Given the description of an element on the screen output the (x, y) to click on. 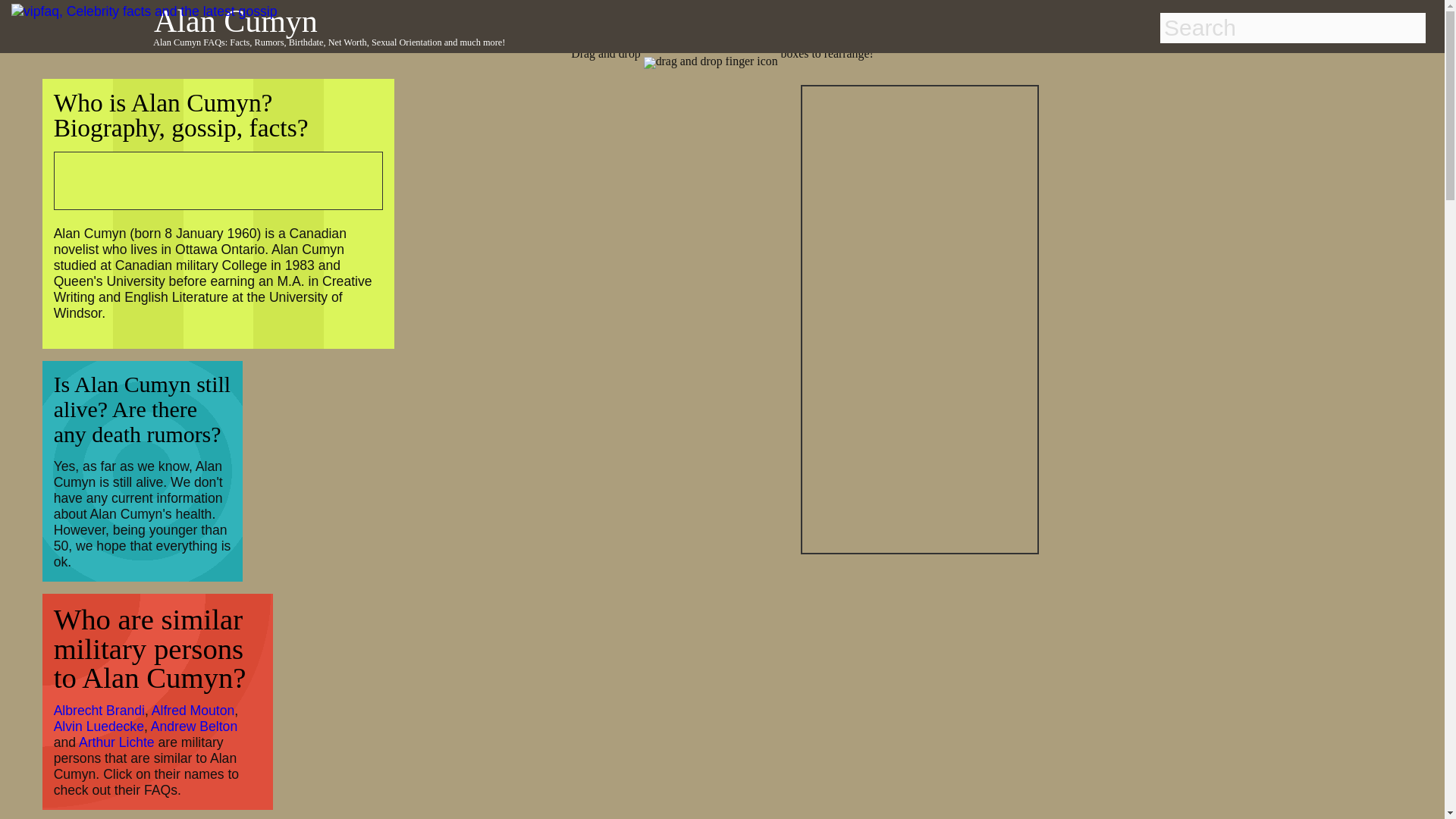
Andrew Belton (194, 726)
Alvin Luedecke (98, 726)
Albrecht Brandi (98, 710)
Arthur Lichte (116, 742)
Alfred Mouton (192, 710)
